Given the description of an element on the screen output the (x, y) to click on. 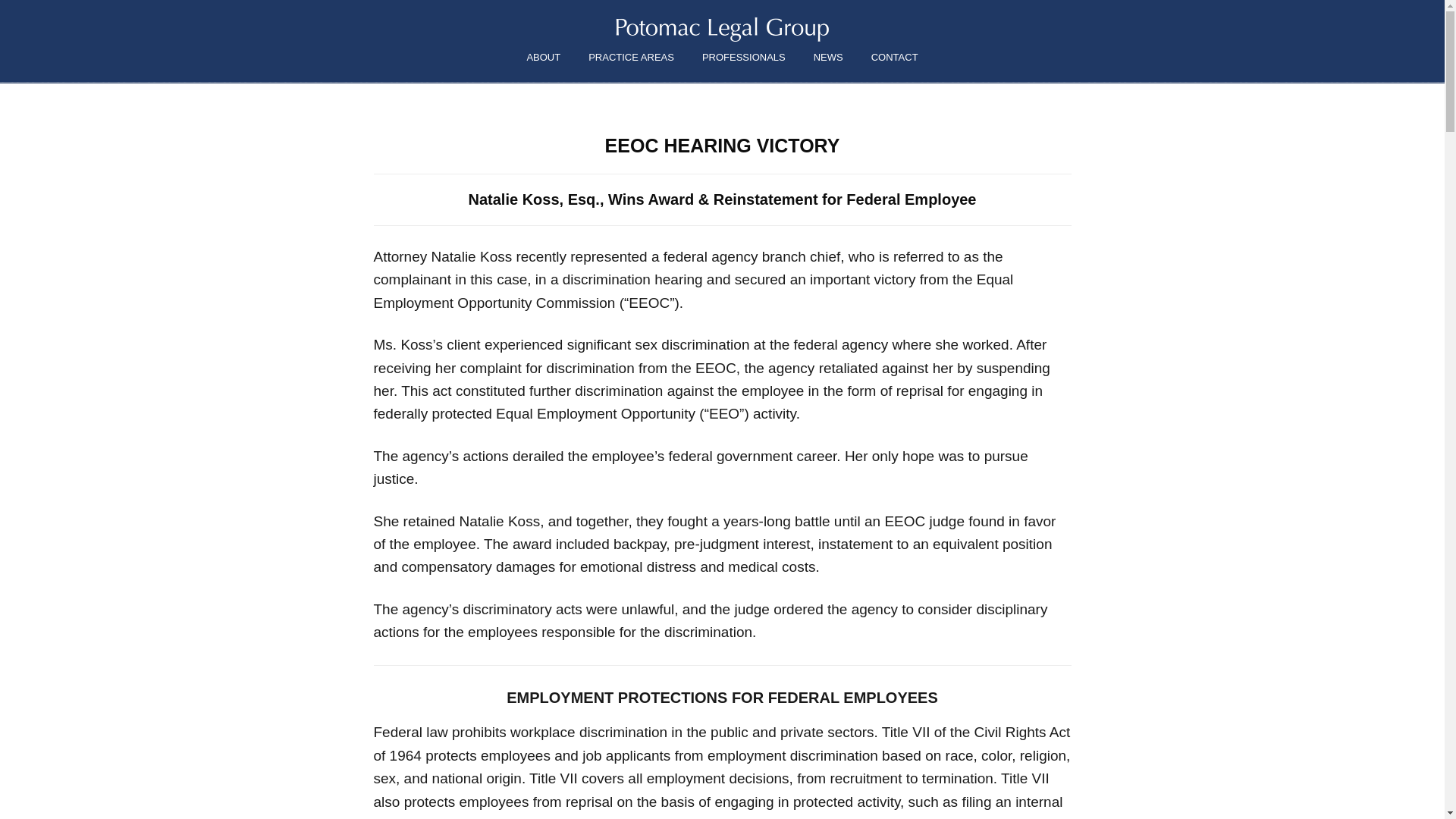
NEWS (828, 57)
PROFESSIONALS (743, 57)
ABOUT (543, 57)
CONTACT (894, 57)
PRACTICE AREAS (630, 57)
